Given the description of an element on the screen output the (x, y) to click on. 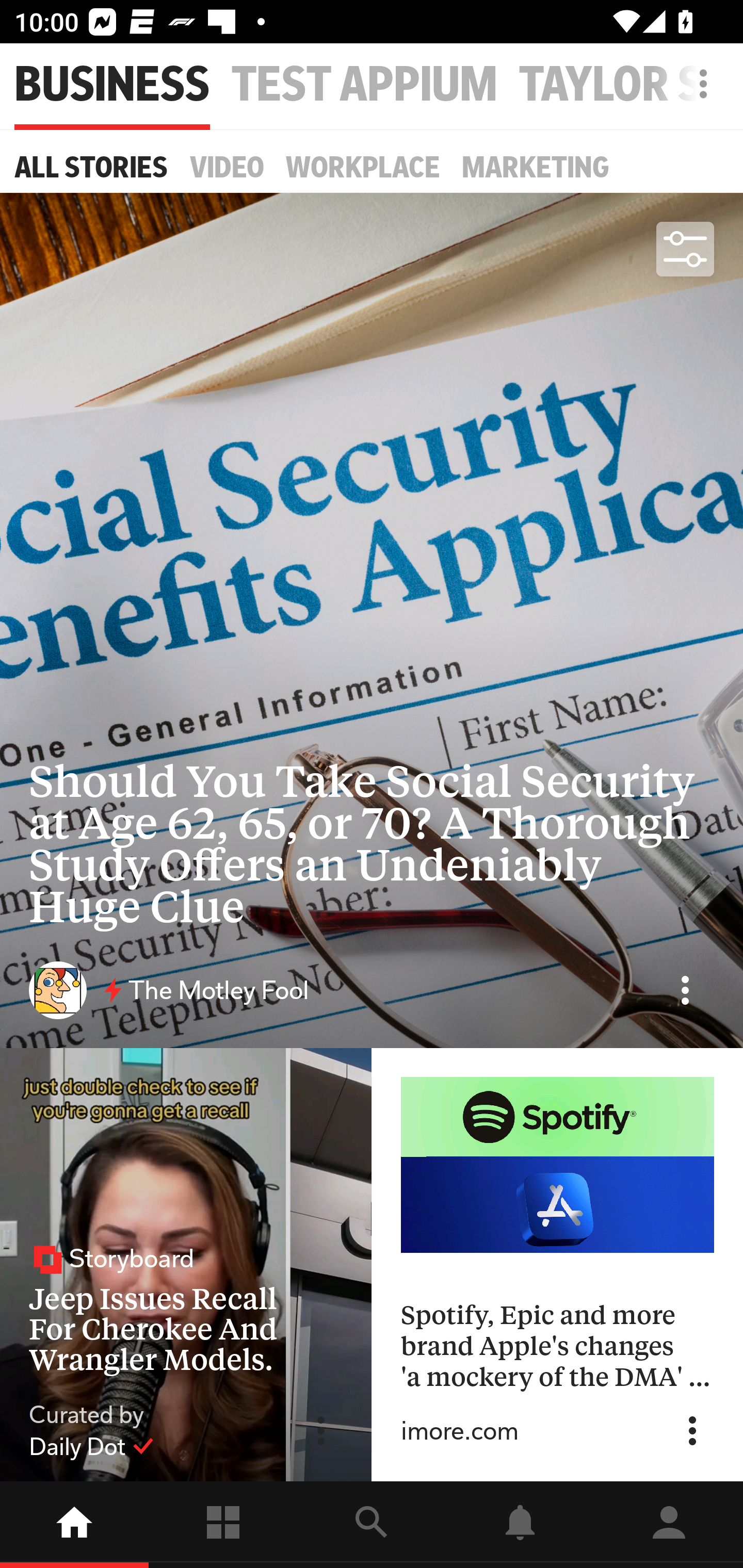
BUSINESS (112, 84)
TEST APPIUM (364, 84)
TAYLOR SWIFT  (631, 84)
Edit Home (697, 83)
ALL STORIES (90, 166)
VIDEO (227, 166)
WORKPLACE (362, 166)
MARKETING (535, 166)
Options (685, 989)
Options (320, 1430)
Options (692, 1430)
home (74, 1524)
Following (222, 1524)
explore (371, 1524)
Notifications (519, 1524)
Profile (668, 1524)
